Given the description of an element on the screen output the (x, y) to click on. 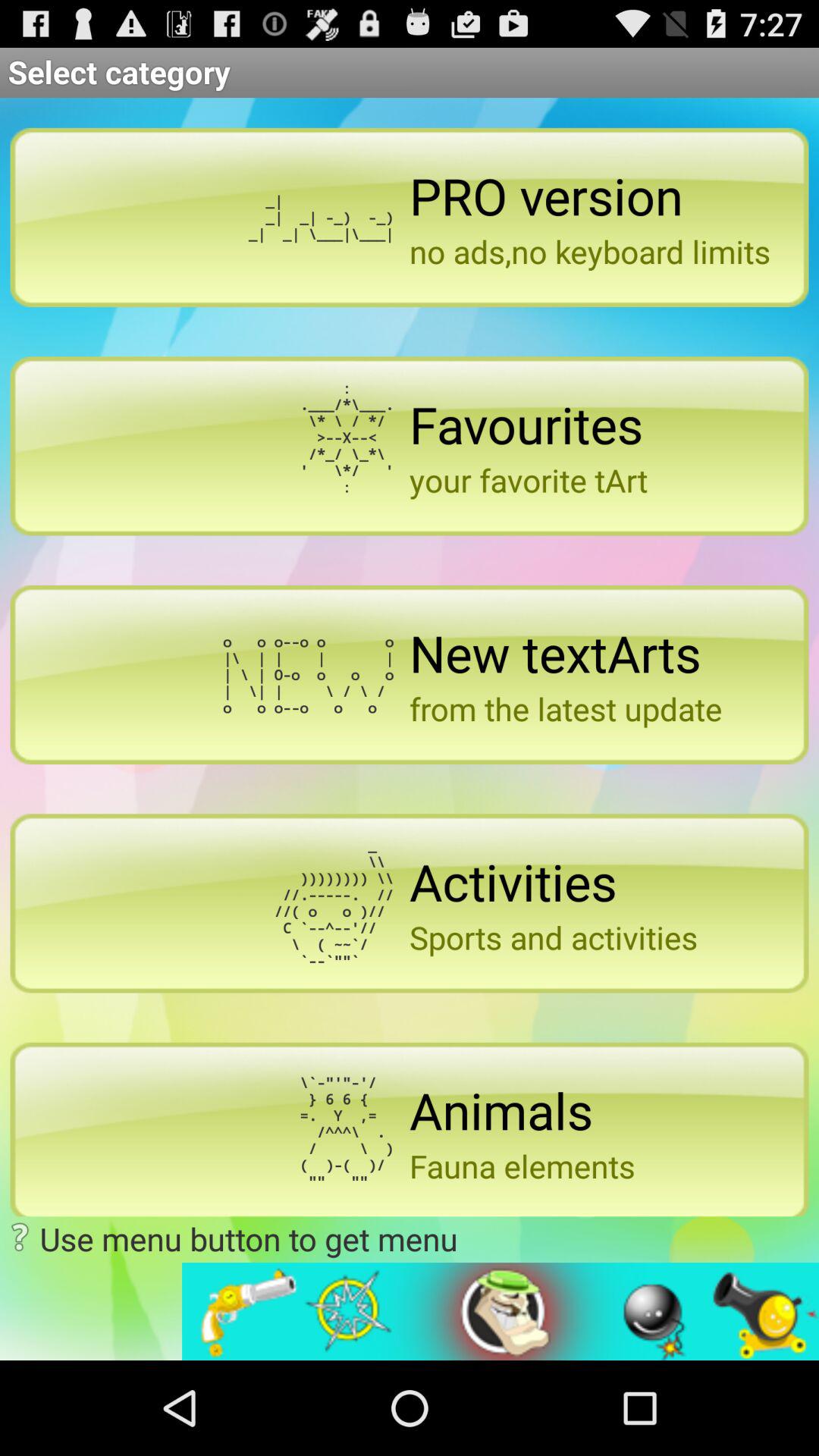
select menu (500, 1311)
